Given the description of an element on the screen output the (x, y) to click on. 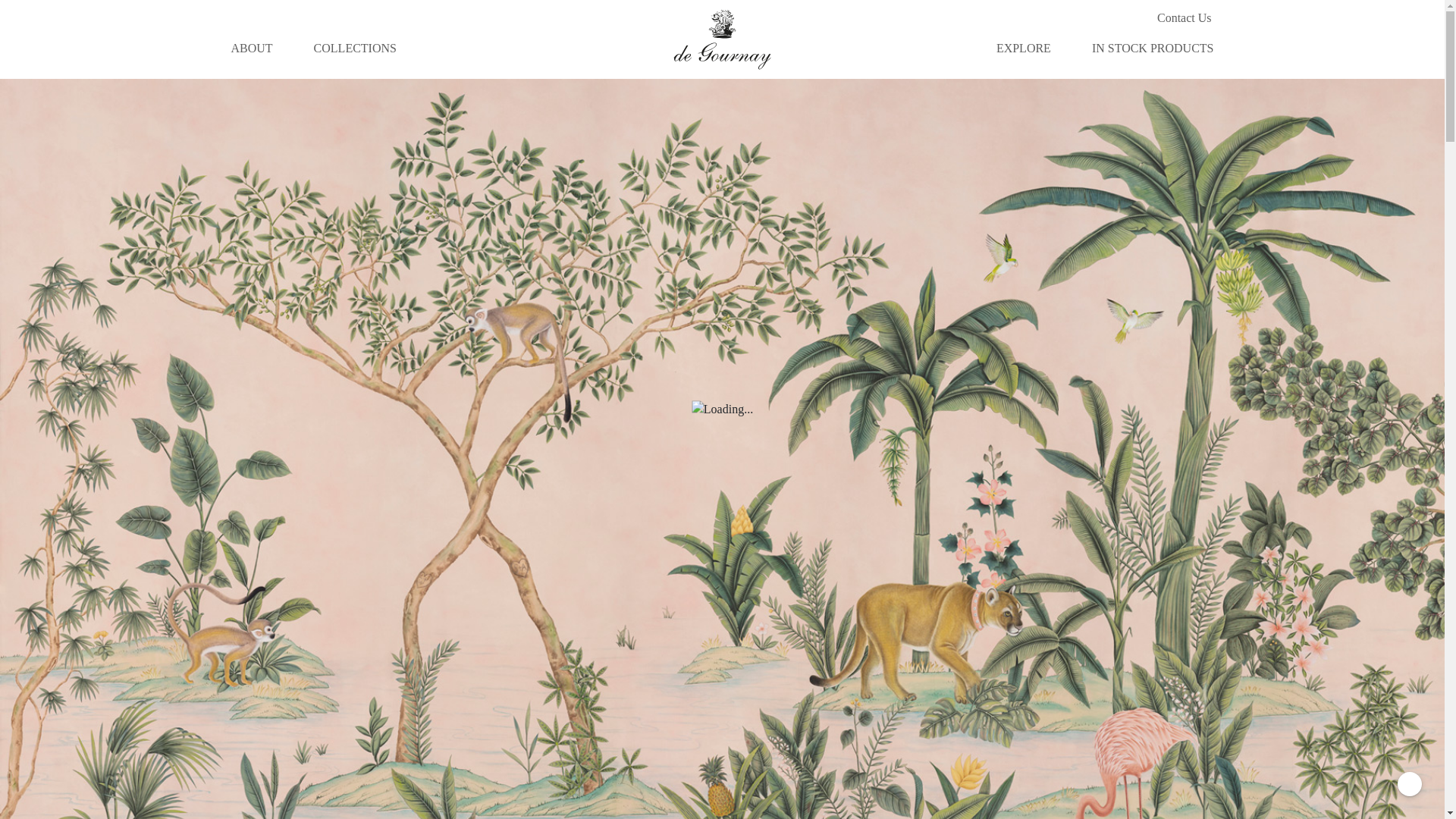
Open Side Menu (18, 39)
Go to my favourite page (1123, 18)
Contact Us (1184, 17)
Accessibility Button (1409, 784)
ABOUT (251, 48)
COLLECTIONS (355, 48)
